Given the description of an element on the screen output the (x, y) to click on. 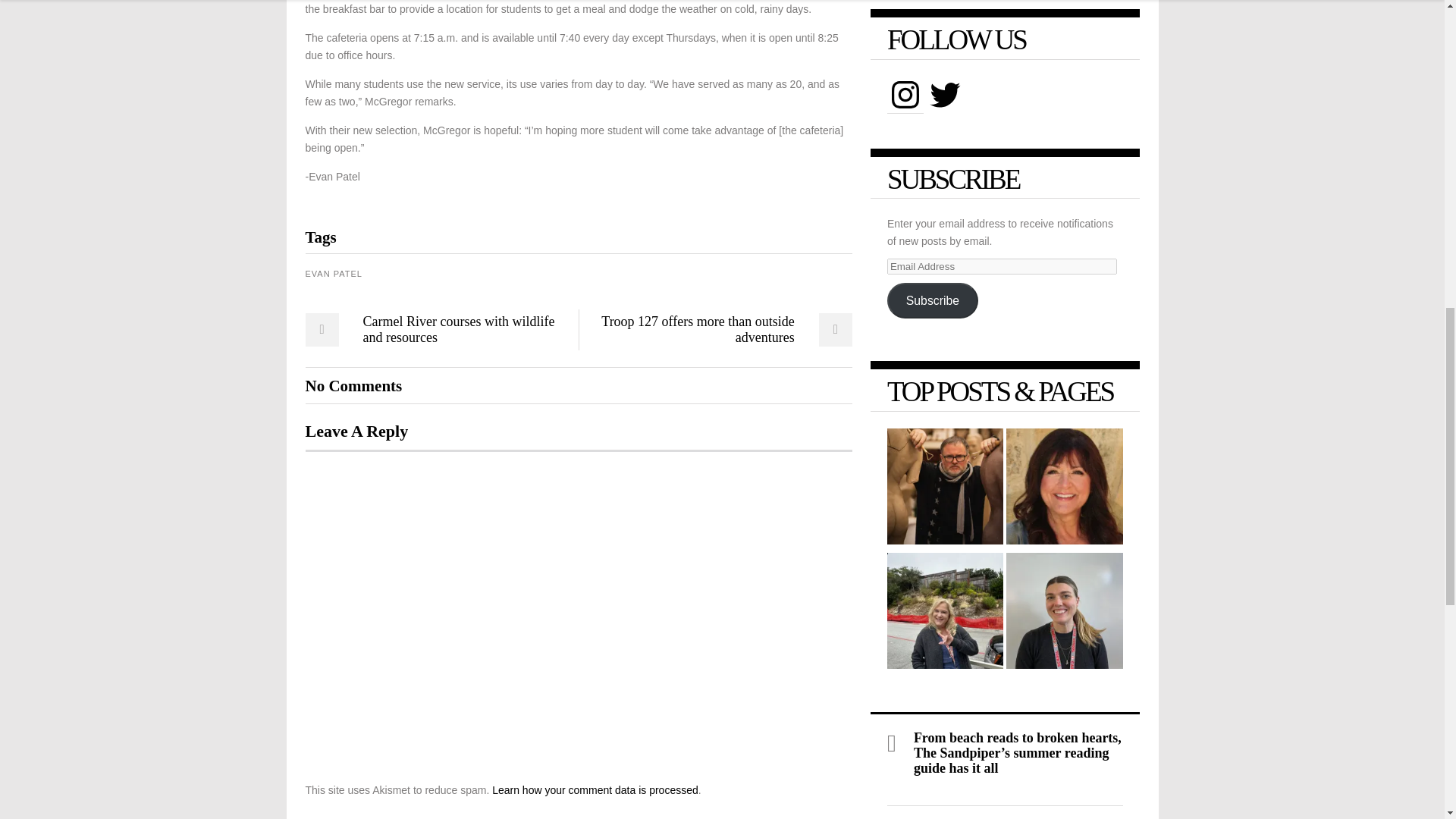
The Monument Man (944, 488)
EVAN PATEL (332, 273)
Carmel River courses with wildlife and resources (435, 329)
Troop 127 offers more than outside adventures (721, 329)
